Given the description of an element on the screen output the (x, y) to click on. 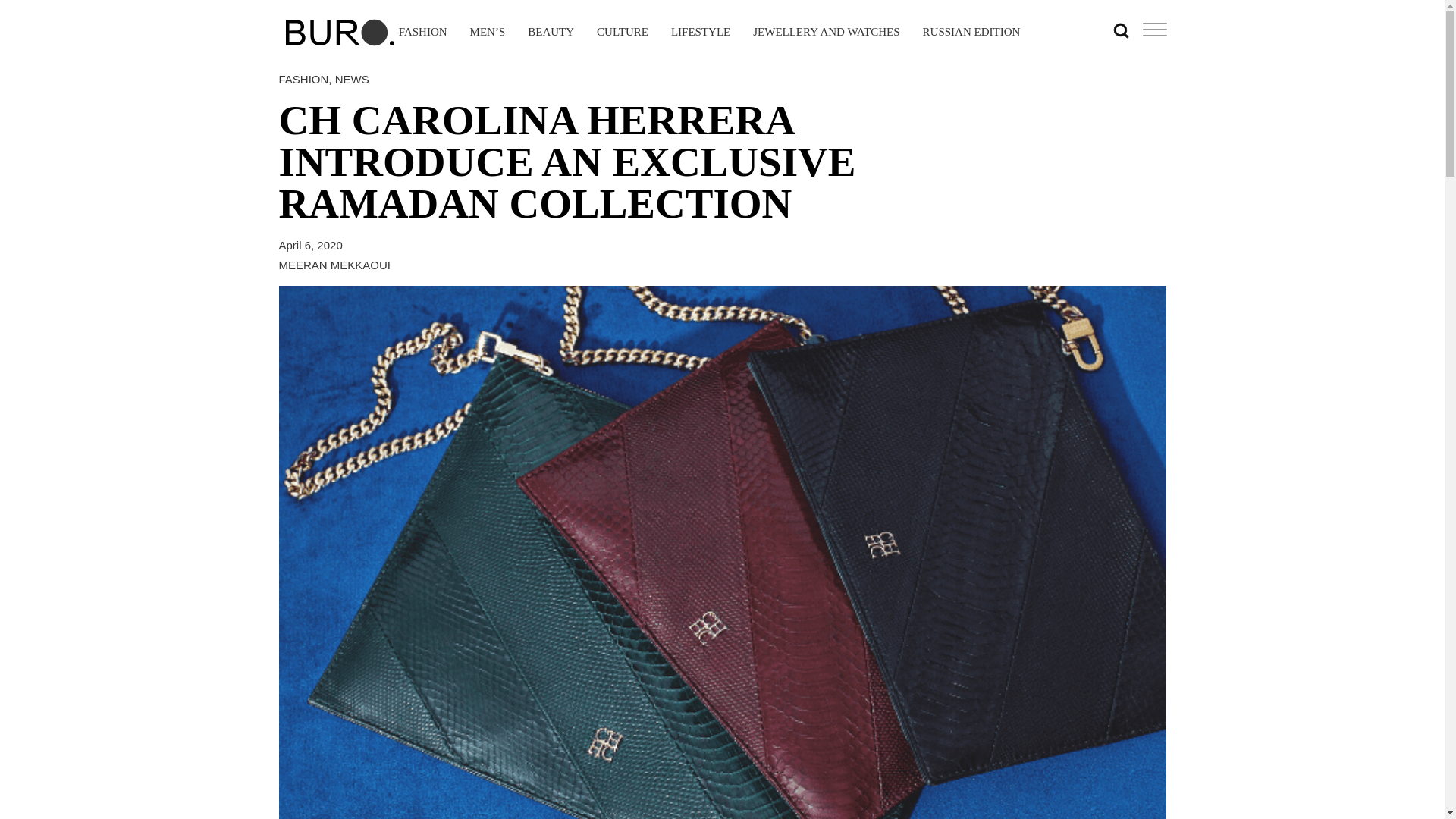
CULTURE (621, 32)
LIFESTYLE (700, 32)
JEWELLERY AND WATCHES (825, 32)
NEWS (351, 78)
FASHION (422, 32)
MEERAN MEKKAOUI (335, 264)
BEAUTY (550, 32)
FASHION (304, 78)
